Given the description of an element on the screen output the (x, y) to click on. 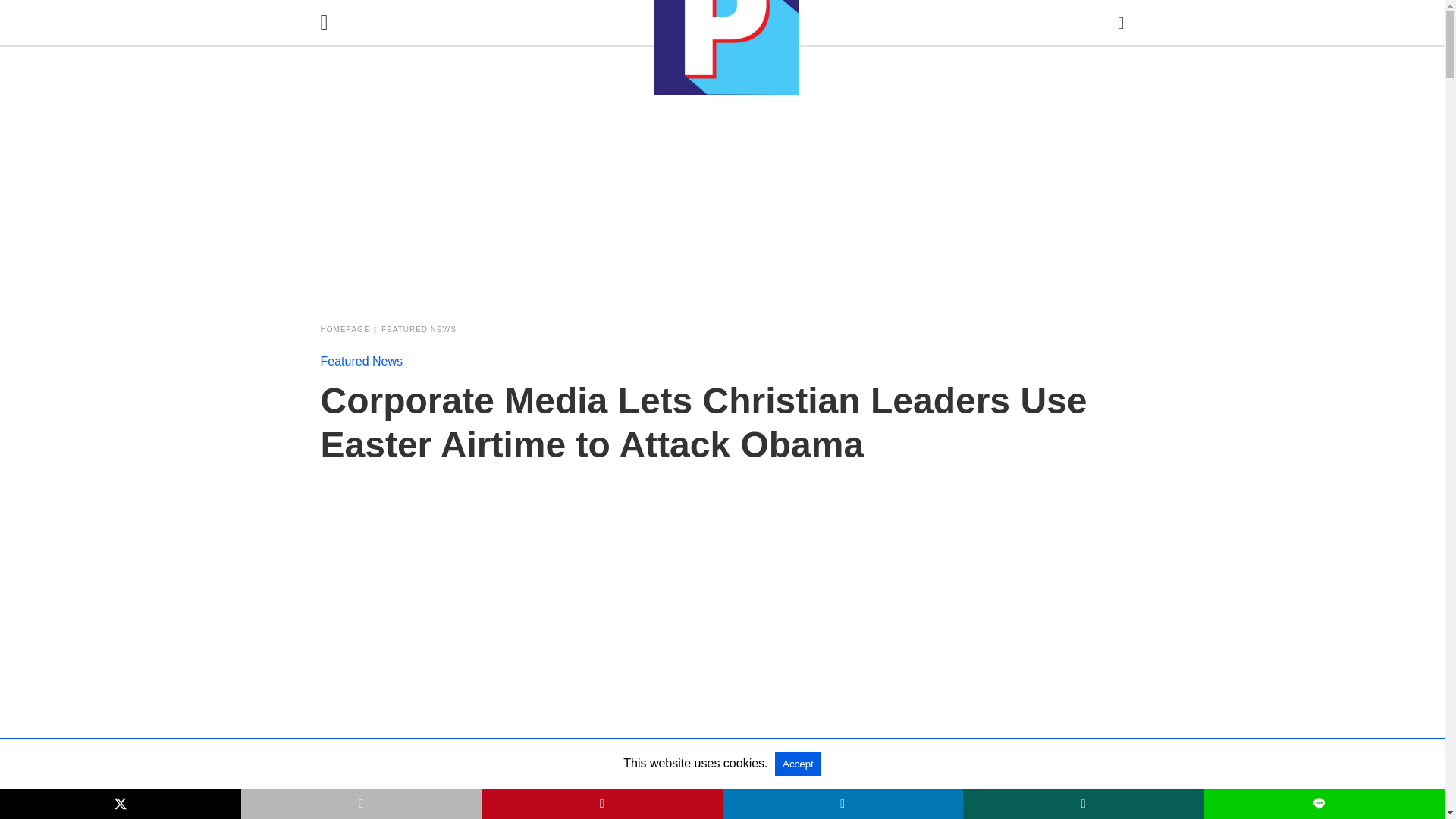
line share (451, 812)
HOMEPAGE (348, 329)
FEATURED NEWS (419, 329)
Featured News (419, 329)
Homepage (348, 329)
PoliticusUSA (725, 47)
Featured News (361, 360)
Featured News (361, 360)
3rd party ad content (834, 806)
